Given the description of an element on the screen output the (x, y) to click on. 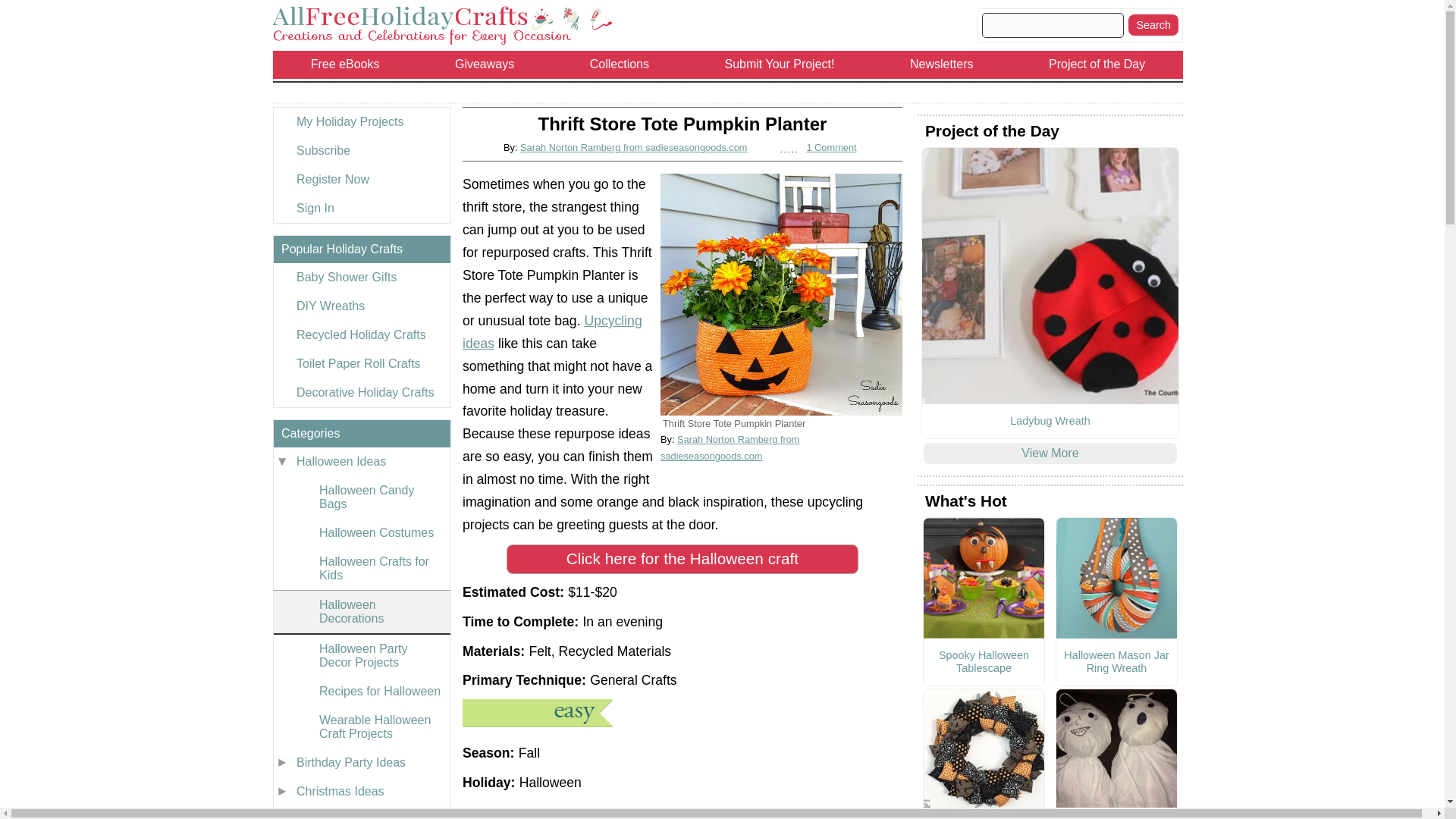
My Holiday Projects (361, 121)
Recycled Crafts (552, 331)
Subscribe (361, 150)
Email (829, 815)
Sign In (361, 208)
Facebook (682, 815)
Thrift Store Tote Pumpkin Planter (781, 294)
Search (1152, 25)
Register Now (361, 179)
